Given the description of an element on the screen output the (x, y) to click on. 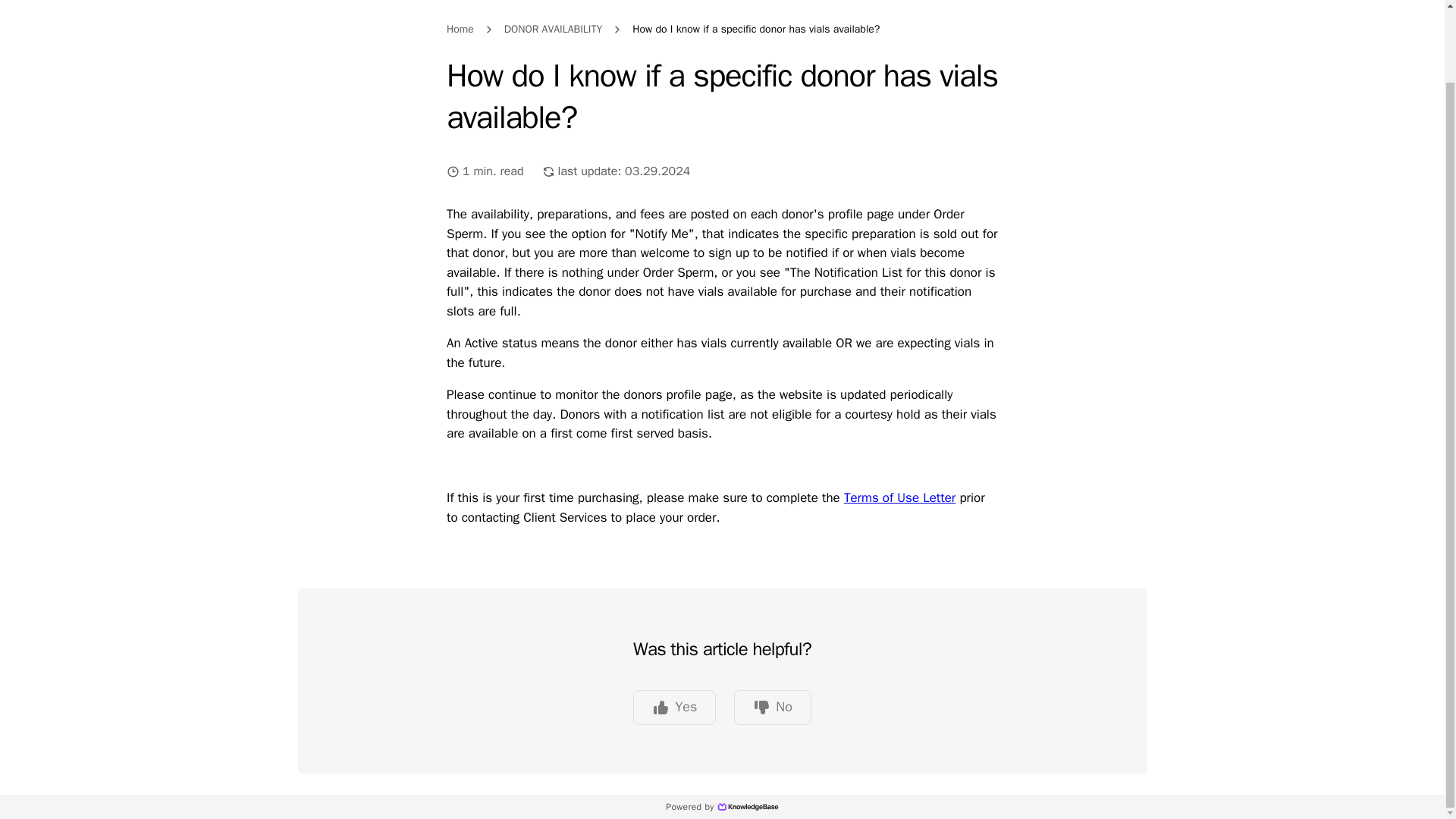
No (771, 707)
Home (460, 28)
DONOR AVAILABILITY (552, 28)
Yes (674, 707)
Terms of Use Letter (899, 497)
